Given the description of an element on the screen output the (x, y) to click on. 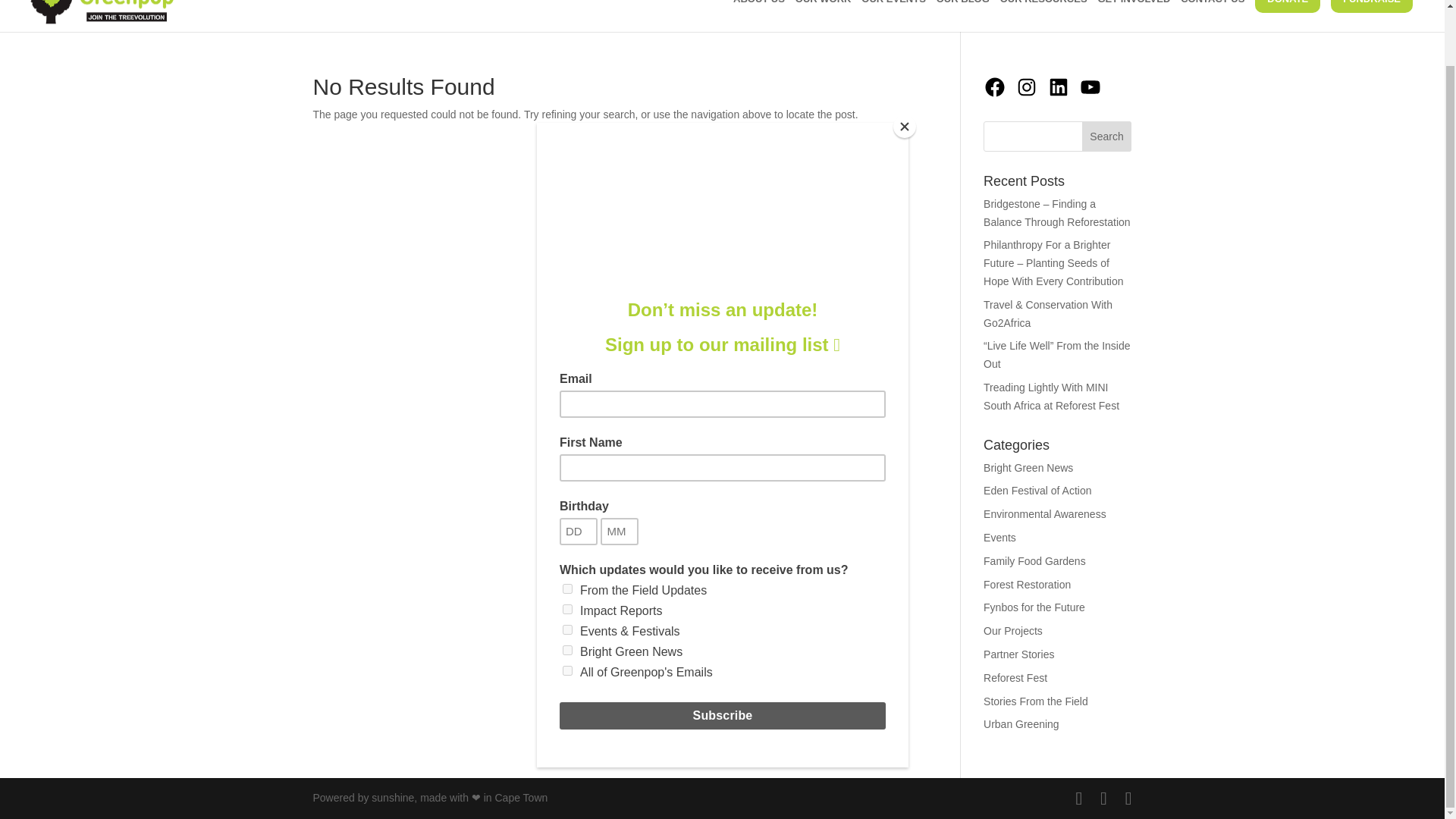
FUNDRAISE (1375, 15)
CONTACT US (1216, 11)
OUR RESOURCES (1047, 11)
OUR EVENTS (897, 11)
DONATE (1291, 15)
OUR WORK (826, 11)
OUR BLOG (966, 11)
ABOUT US (762, 11)
GET INVOLVED (1137, 11)
Search (1106, 136)
